Given the description of an element on the screen output the (x, y) to click on. 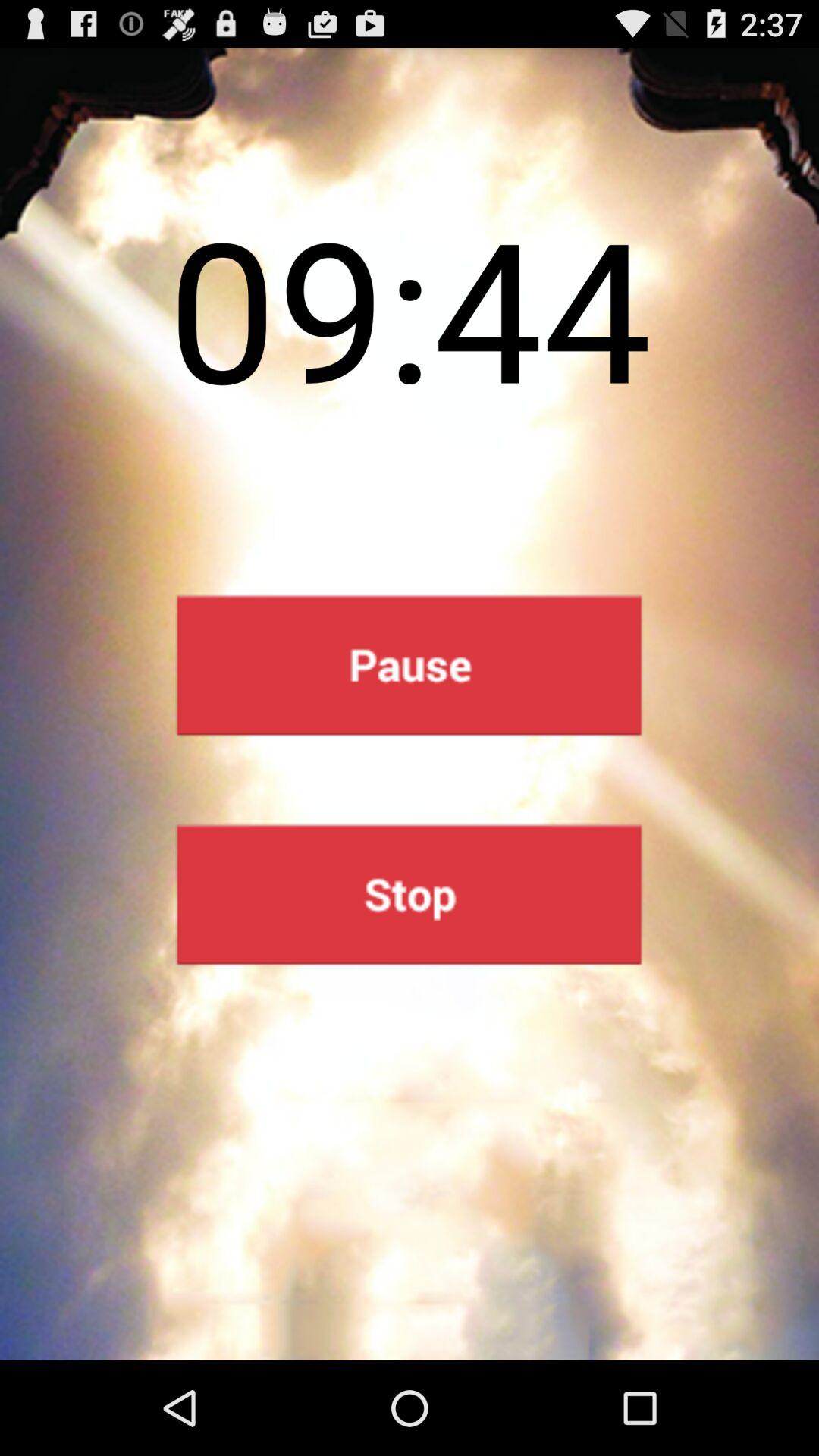
click button (409, 894)
